Given the description of an element on the screen output the (x, y) to click on. 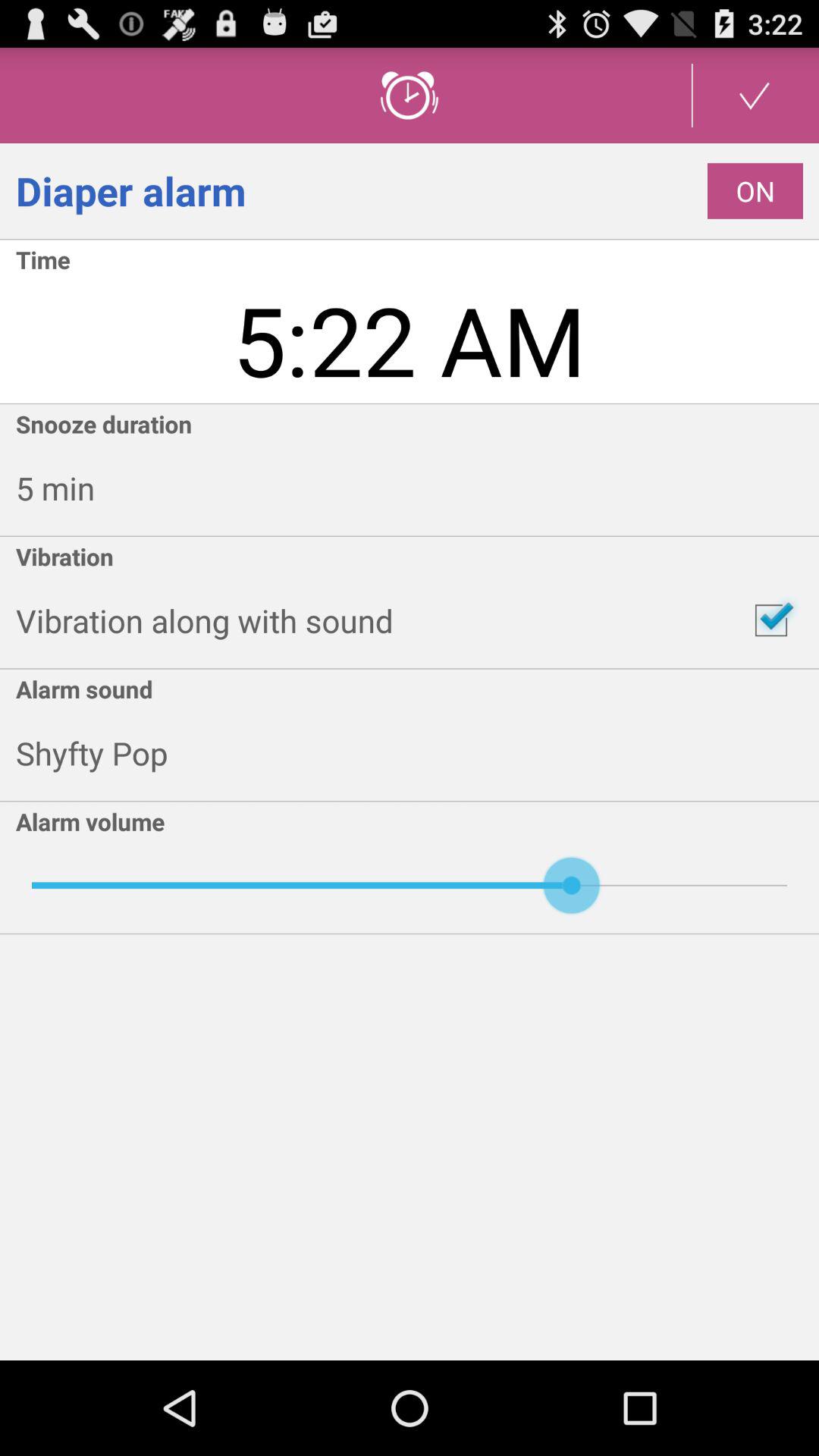
tap icon next to vibration along with icon (771, 620)
